Given the description of an element on the screen output the (x, y) to click on. 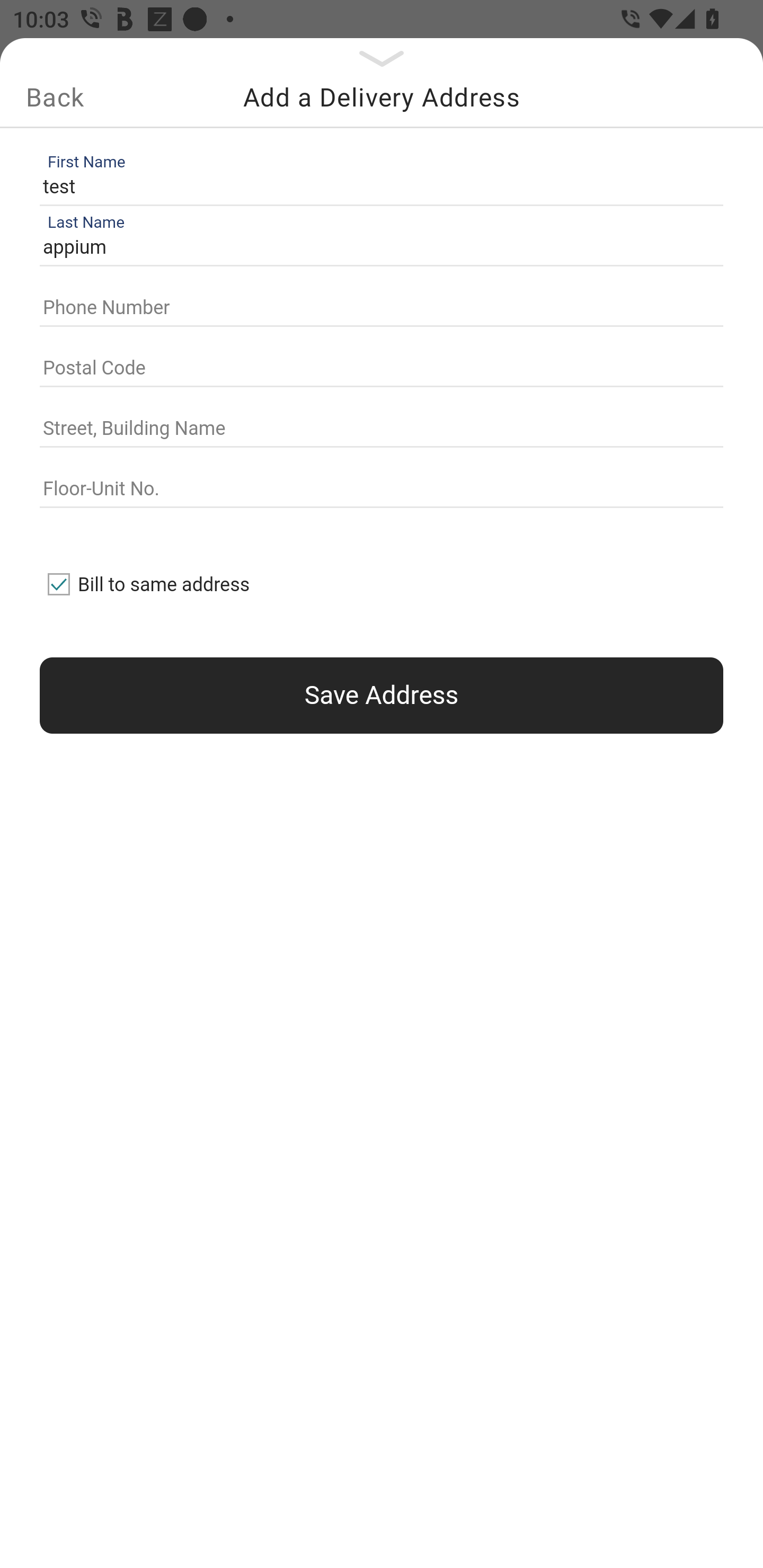
Back (54, 96)
Add a Delivery Address (381, 96)
test (377, 186)
appium (377, 247)
Save Address (381, 694)
